Given the description of an element on the screen output the (x, y) to click on. 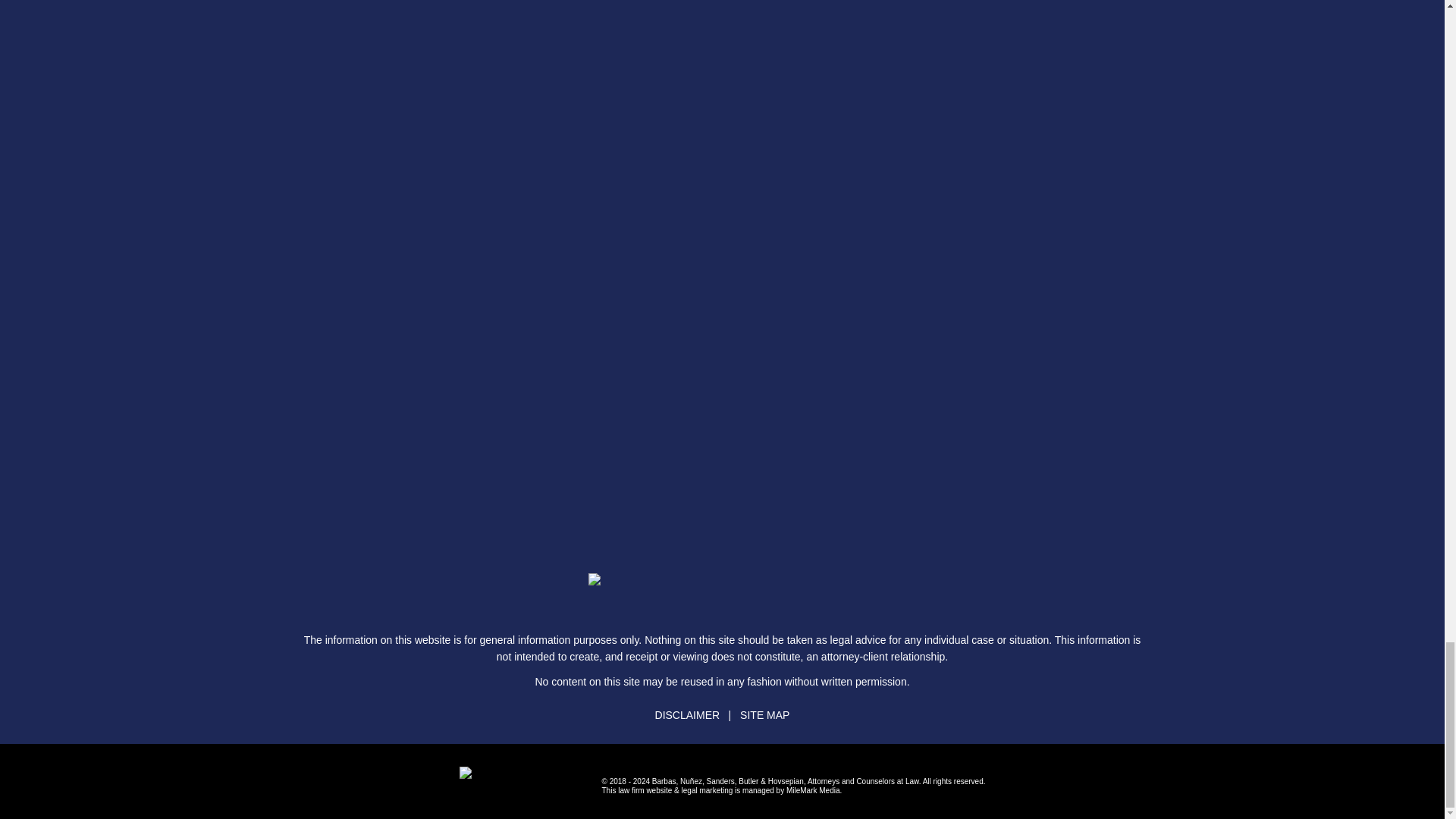
facebook (663, 611)
